Given the description of an element on the screen output the (x, y) to click on. 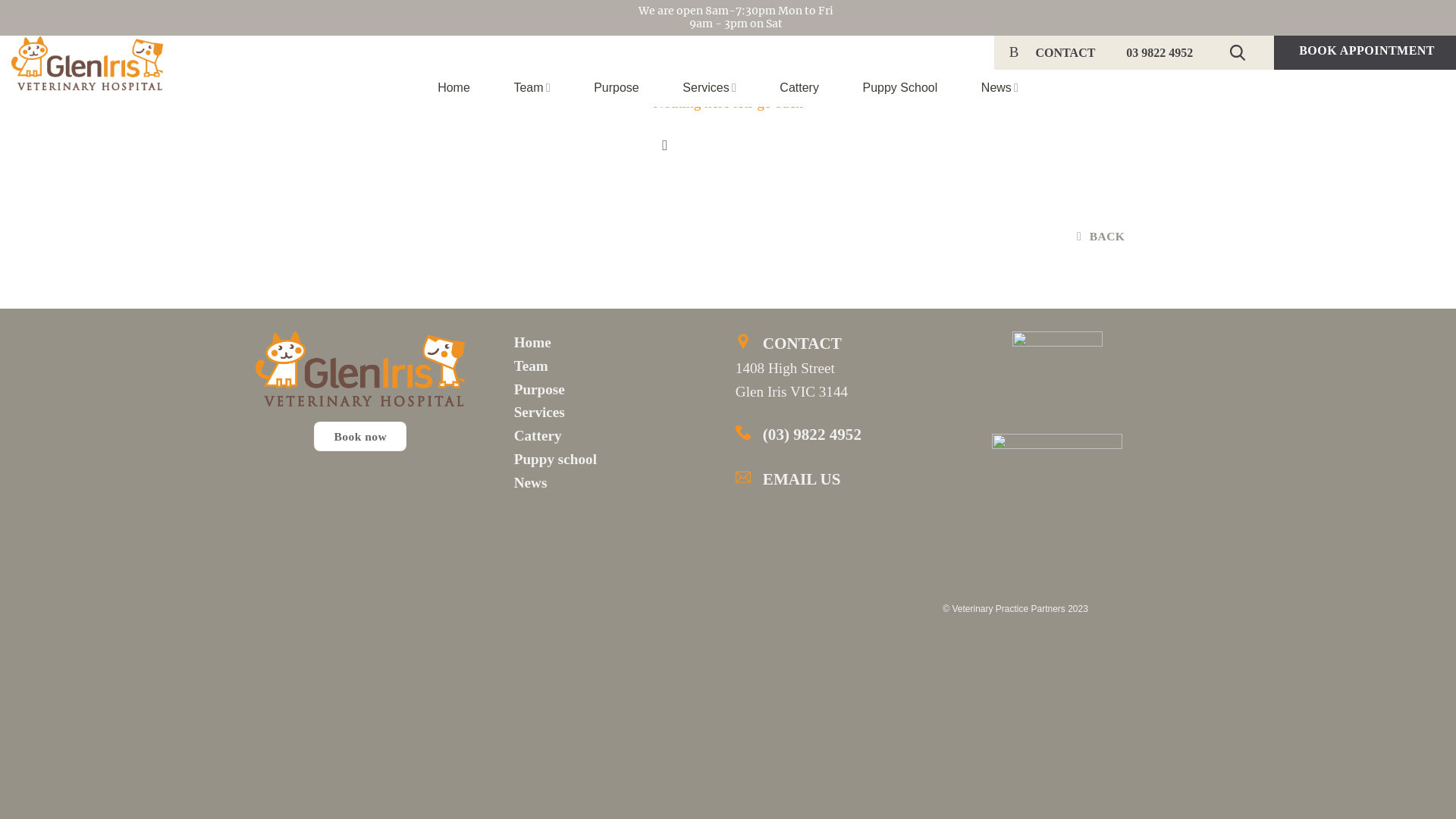
Home Element type: text (453, 87)
Services Element type: text (539, 412)
03 9822 4952 Element type: text (1159, 52)
Puppy school Element type: text (555, 459)
Glen Iris Vet Hospital - Your Partner in Pet Care Element type: hover (87, 63)
Home Element type: text (532, 342)
(03) 9822 4952 Element type: text (811, 434)
  Element type: text (1241, 52)
Services Element type: text (708, 87)
Purpose Element type: text (539, 389)
Puppy School Element type: text (900, 87)
Cattery Element type: text (537, 435)
CONTACT Element type: text (1065, 52)
BACK Element type: text (1101, 236)
Purpose Element type: text (616, 87)
News Element type: text (530, 482)
News Element type: text (999, 87)
Cattery Element type: text (799, 87)
Team Element type: text (531, 365)
EMAIL US Element type: text (850, 479)
Team Element type: text (531, 87)
Book now Element type: text (359, 436)
